Given the description of an element on the screen output the (x, y) to click on. 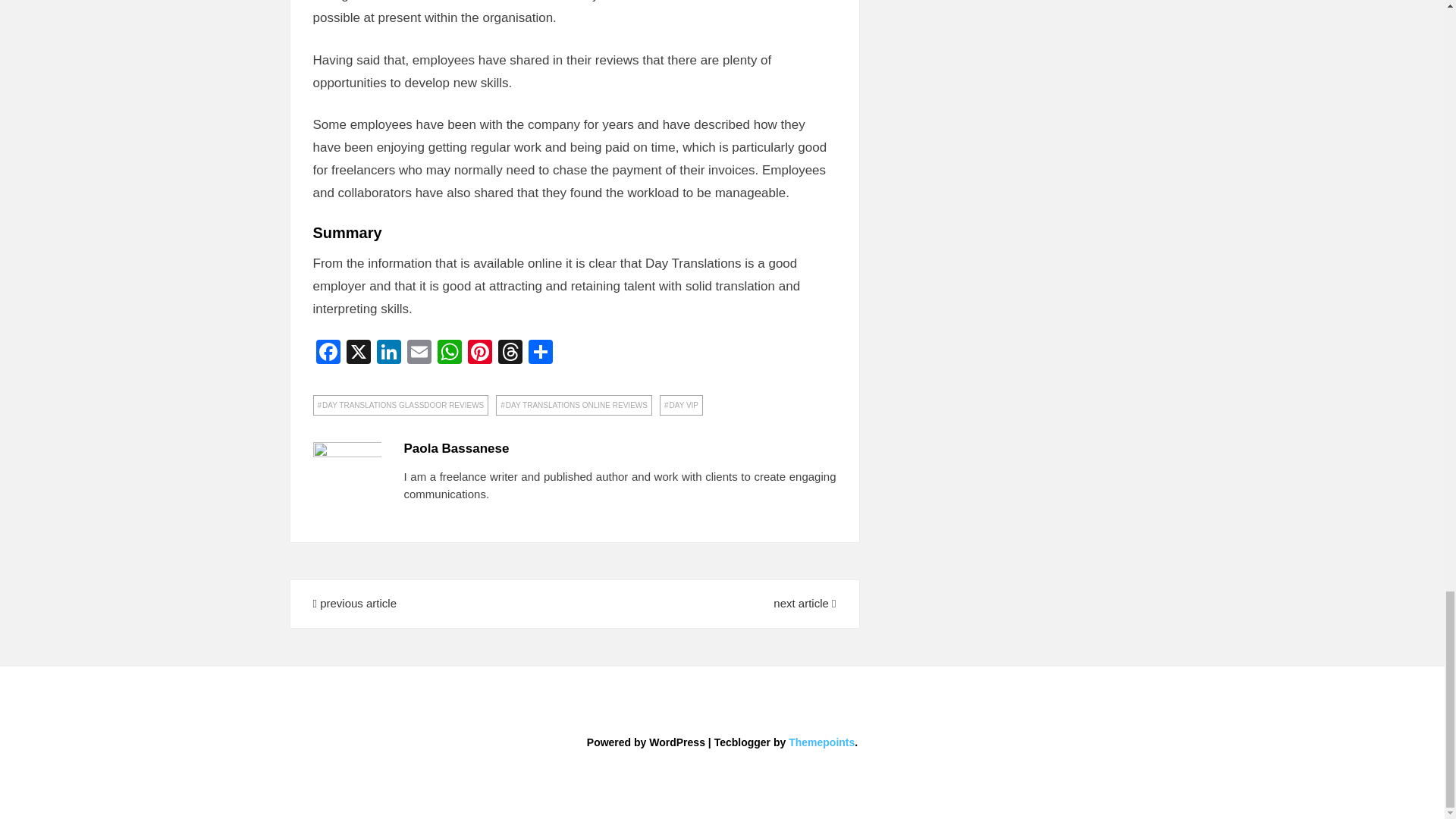
Email (418, 353)
X (357, 353)
WhatsApp (448, 353)
Pinterest (479, 353)
Facebook (327, 353)
DAY TRANSLATIONS GLASSDOOR REVIEWS (400, 404)
Threads (509, 353)
LinkedIn (387, 353)
